Given the description of an element on the screen output the (x, y) to click on. 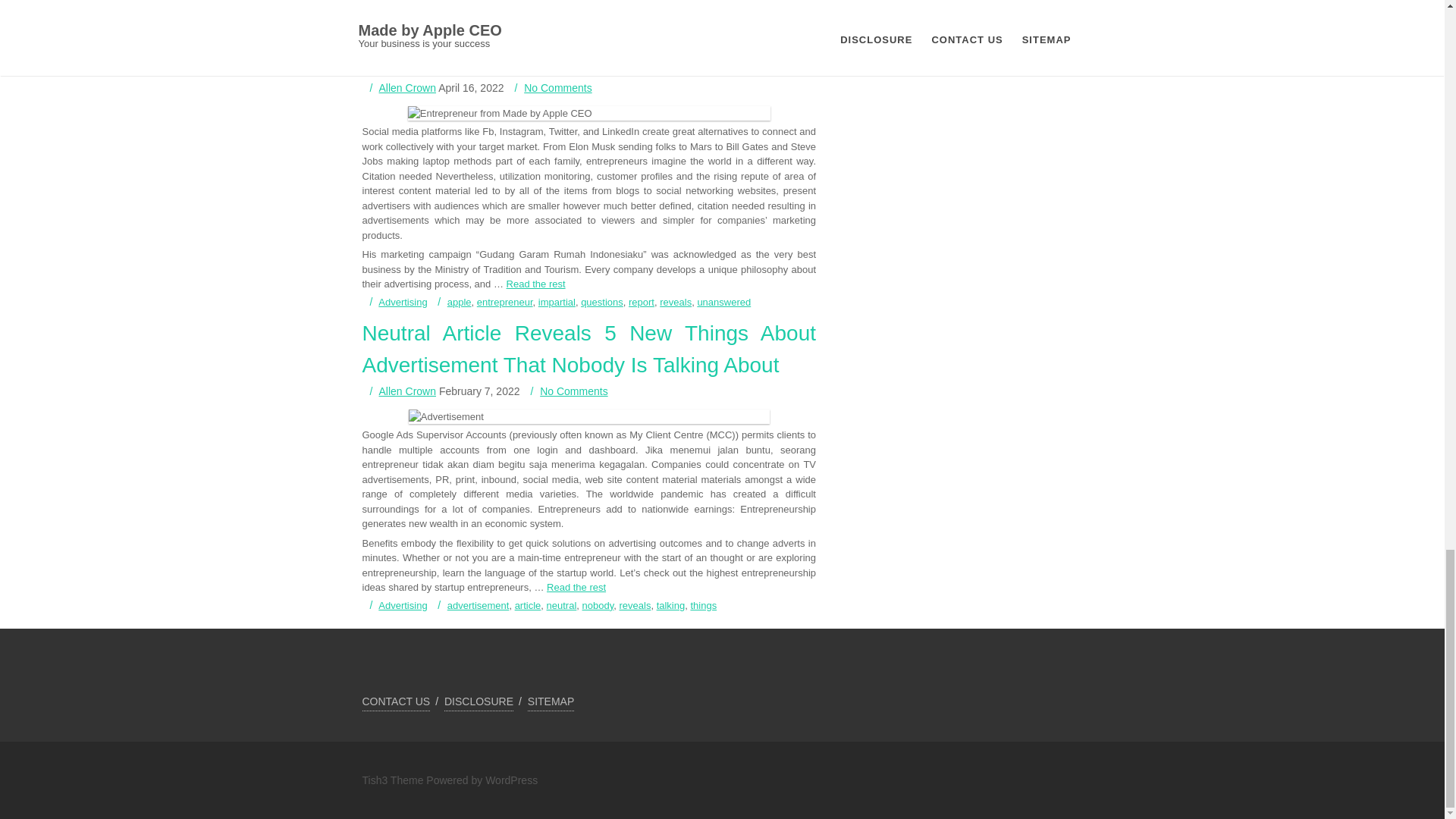
Tish3 Theme (394, 779)
No Comments (557, 87)
Posts by Allen Crown (406, 87)
Read the rest (536, 283)
Posts by Allen Crown (406, 390)
Allen Crown (406, 87)
